Given the description of an element on the screen output the (x, y) to click on. 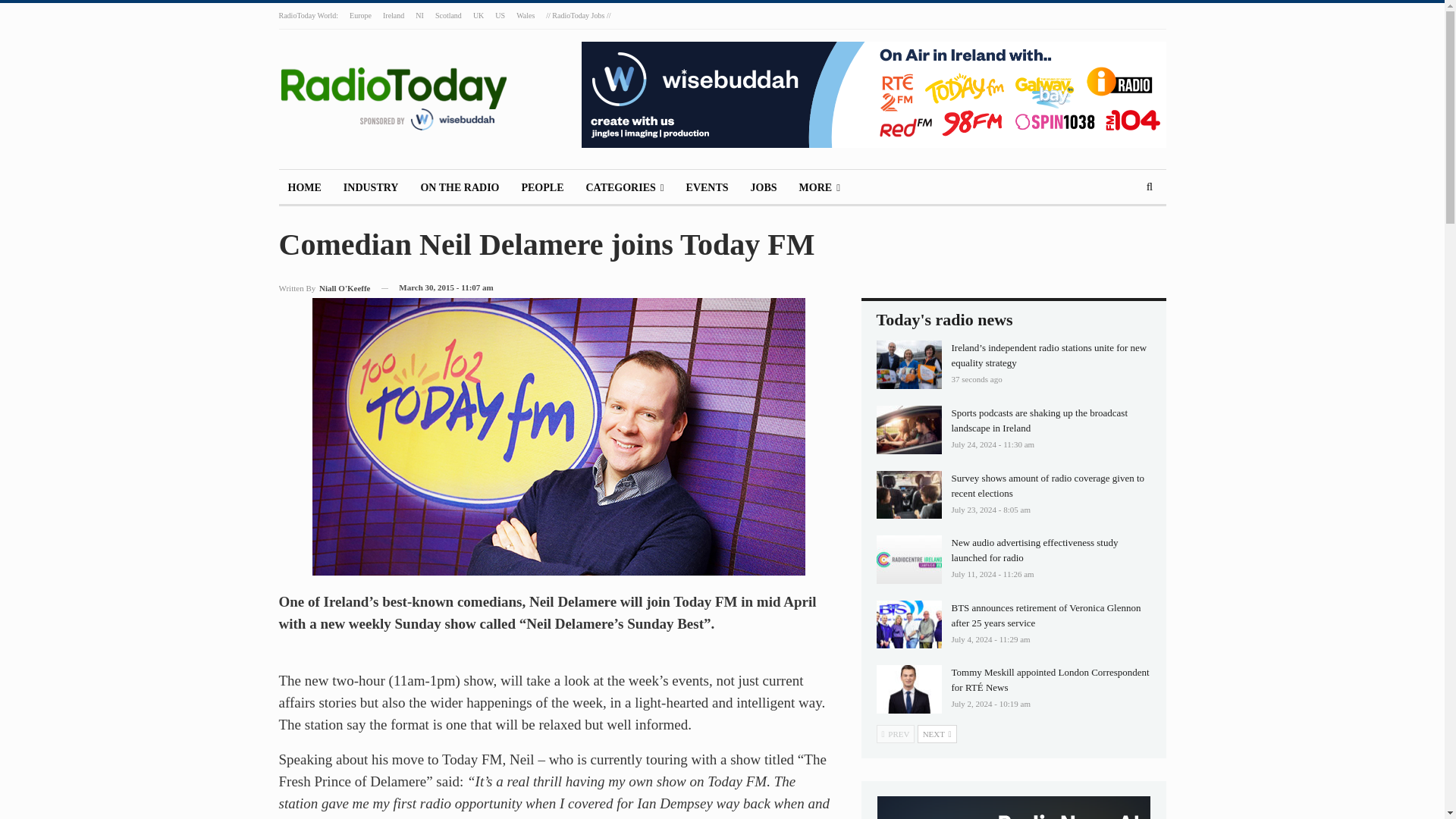
Scotland (448, 15)
NI (418, 15)
INDUSTRY (370, 187)
PEOPLE (542, 187)
Ireland (393, 15)
Wales (525, 15)
ON THE RADIO (459, 187)
UK (478, 15)
CATEGORIES (624, 187)
US (500, 15)
Browse Author Articles (325, 287)
MORE (819, 187)
RadioToday World: (309, 15)
Europe (360, 15)
Written By Niall O'Keeffe (325, 287)
